Given the description of an element on the screen output the (x, y) to click on. 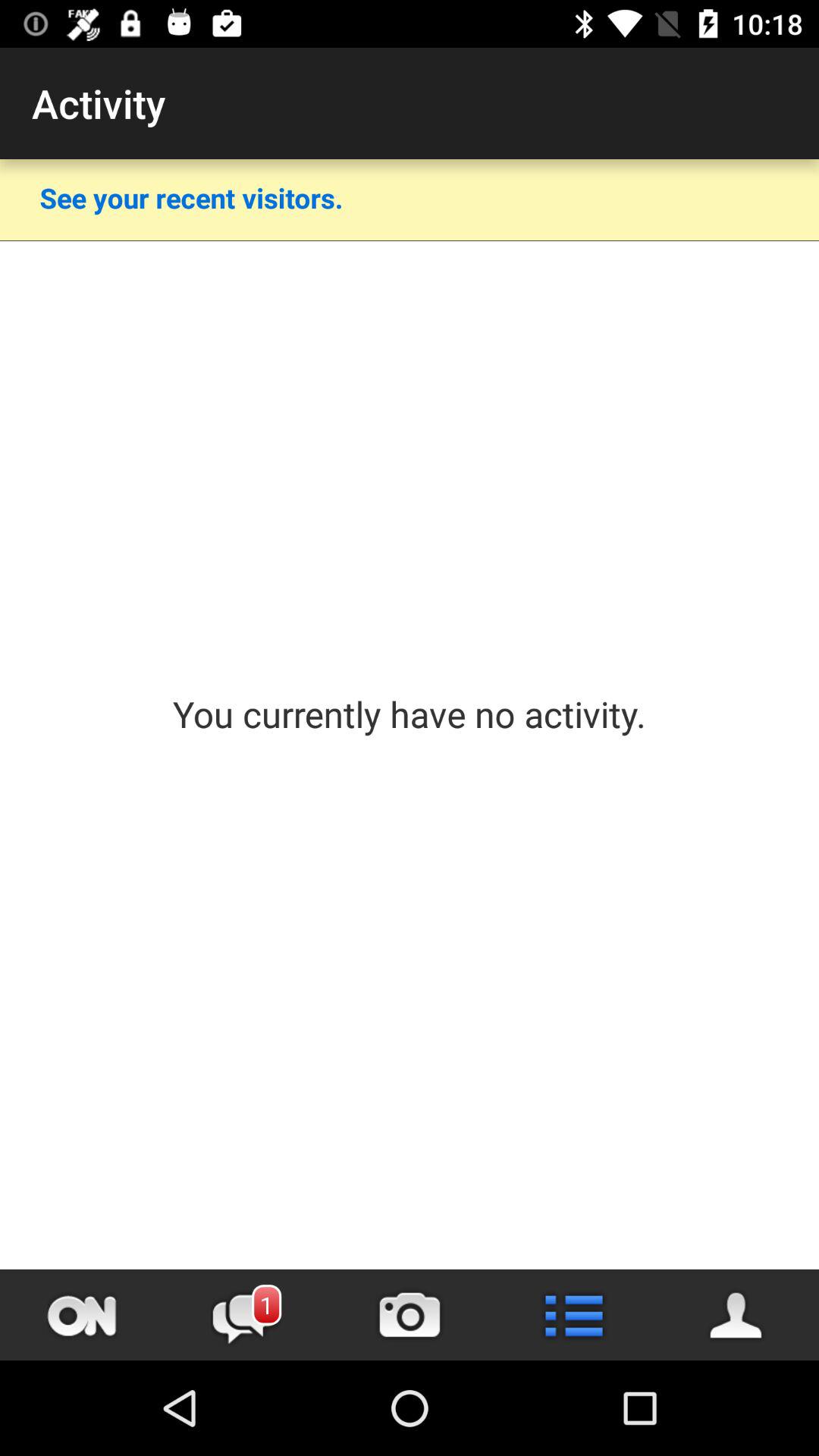
turn off app above the you currently have (409, 240)
